Given the description of an element on the screen output the (x, y) to click on. 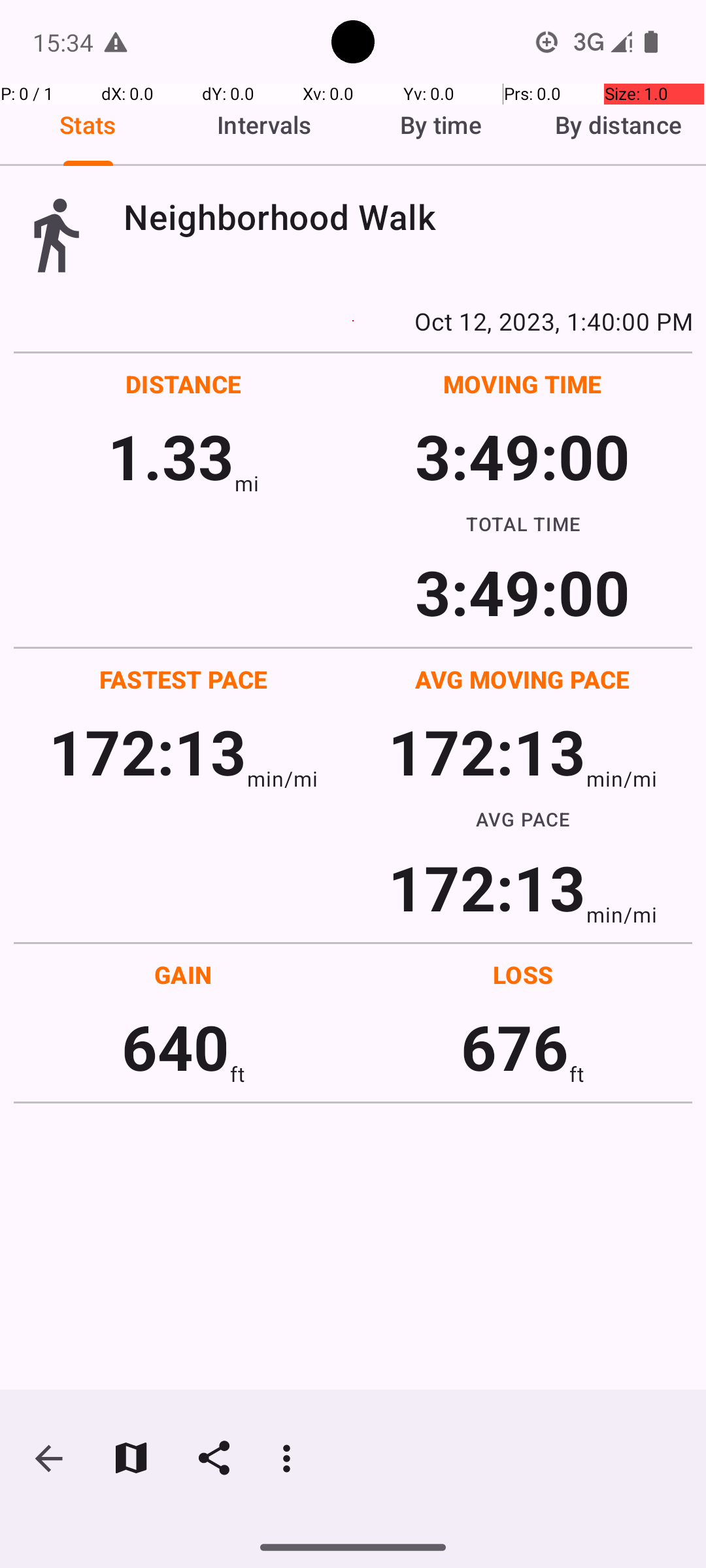
Neighborhood Walk Element type: android.widget.TextView (407, 216)
Oct 12, 2023, 1:40:00 PM Element type: android.widget.TextView (352, 320)
MOVING TIME Element type: android.widget.TextView (522, 383)
1.33 Element type: android.widget.TextView (170, 455)
mi Element type: android.widget.TextView (246, 483)
3:49:00 Element type: android.widget.TextView (522, 455)
TOTAL TIME Element type: android.widget.TextView (522, 523)
FASTEST PACE Element type: android.widget.TextView (183, 678)
AVG MOVING PACE Element type: android.widget.TextView (522, 678)
172:13 Element type: android.widget.TextView (147, 750)
min/mi Element type: android.widget.TextView (282, 778)
AVG PACE Element type: android.widget.TextView (522, 818)
GAIN Element type: android.widget.TextView (183, 974)
LOSS Element type: android.widget.TextView (522, 974)
640 Element type: android.widget.TextView (175, 1045)
ft Element type: android.widget.TextView (237, 1073)
676 Element type: android.widget.TextView (514, 1045)
